Given the description of an element on the screen output the (x, y) to click on. 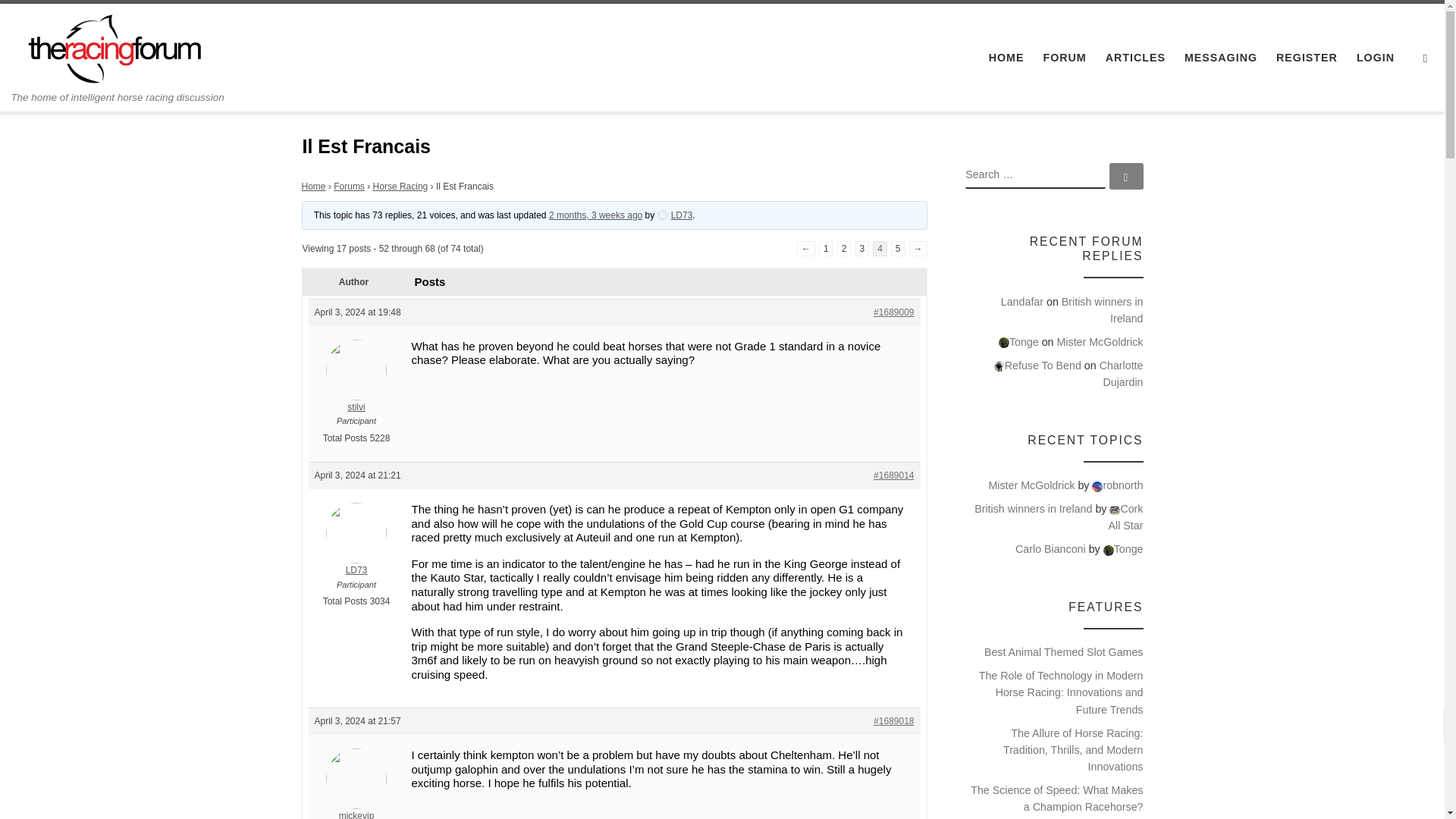
MESSAGING (1220, 57)
LD73 (675, 214)
LOGIN (1375, 57)
View stilvi's profile (355, 386)
LD73 (355, 549)
ARTICLES (1135, 57)
View mickeyjp's profile (355, 793)
View LD73's profile (675, 214)
HOME (1005, 57)
3 (861, 248)
Skip to content (60, 20)
Horse Racing (400, 185)
stilvi (355, 386)
2 months, 3 weeks ago (595, 214)
REGISTER (1306, 57)
